Given the description of an element on the screen output the (x, y) to click on. 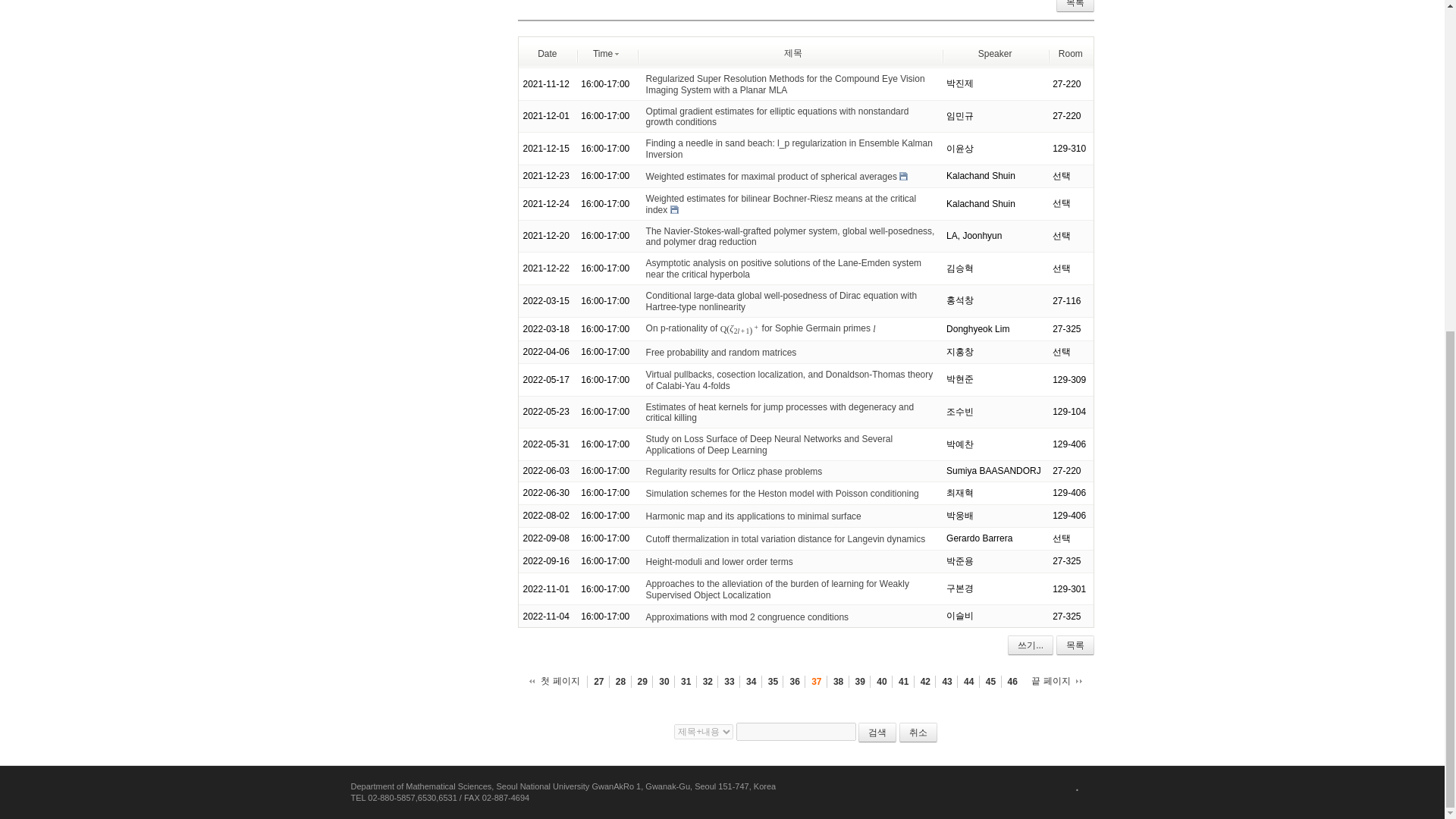
file (903, 175)
Speaker (994, 52)
file (673, 209)
Date (546, 52)
Room (1070, 52)
Weighted estimates for maximal product of spherical averages (771, 176)
Time (606, 52)
